Given the description of an element on the screen output the (x, y) to click on. 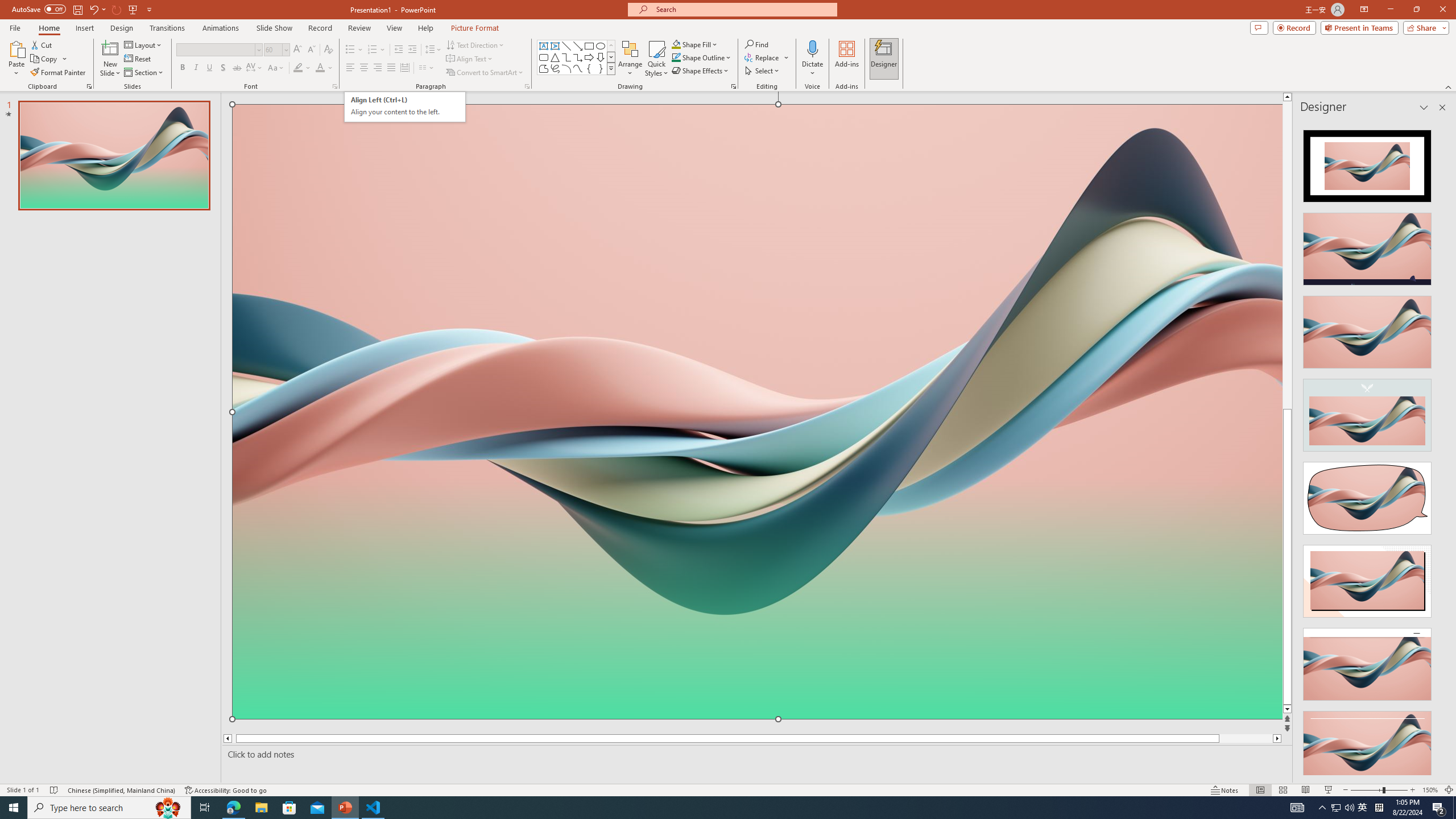
Zoom 150% (1430, 790)
